Given the description of an element on the screen output the (x, y) to click on. 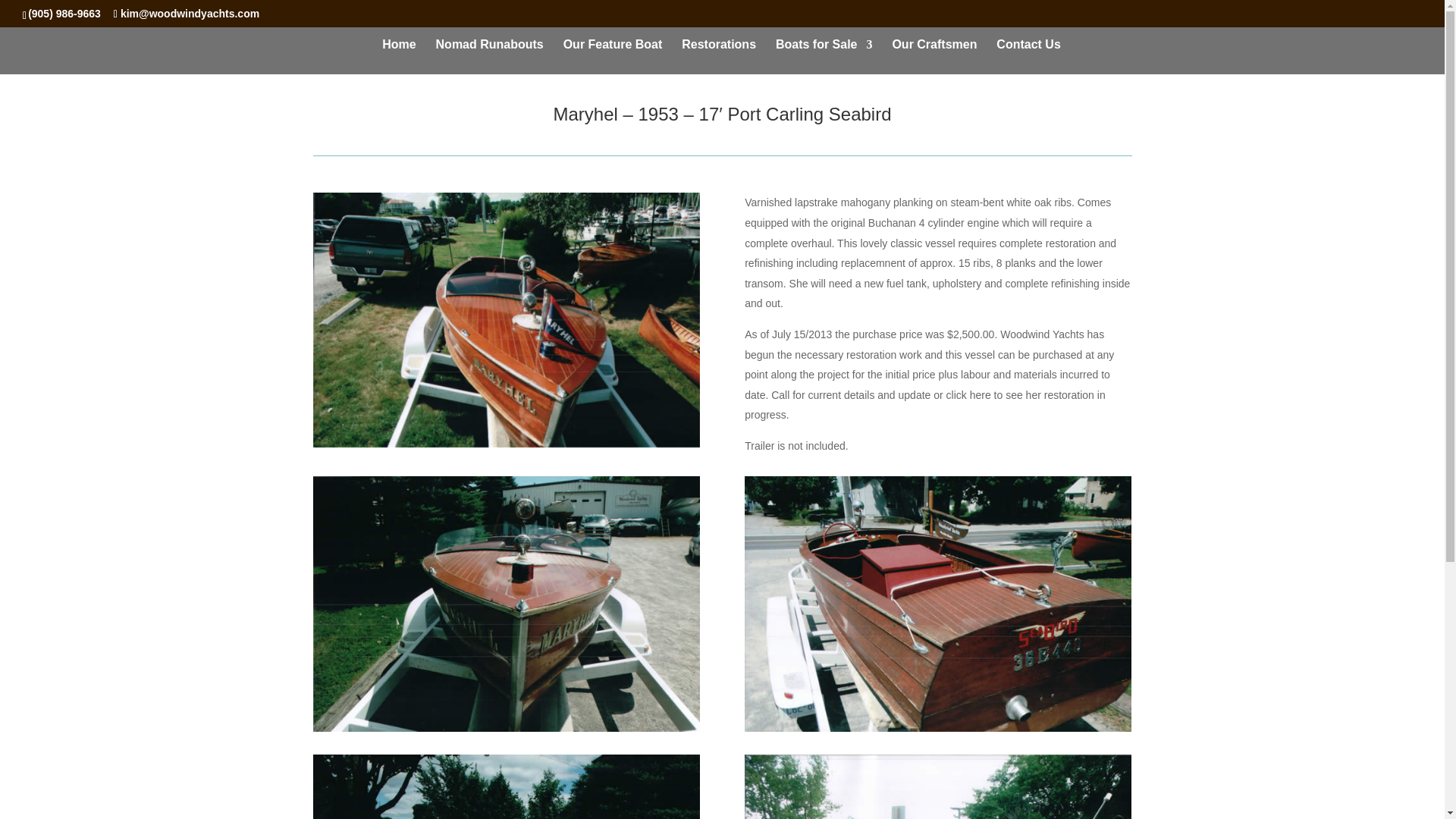
Nomad Runabouts (489, 56)
Home (397, 56)
Boats for Sale (824, 56)
Contact Us (1027, 56)
Our Craftsmen (933, 56)
Our Feature Boat (612, 56)
Restorations (718, 56)
